Given the description of an element on the screen output the (x, y) to click on. 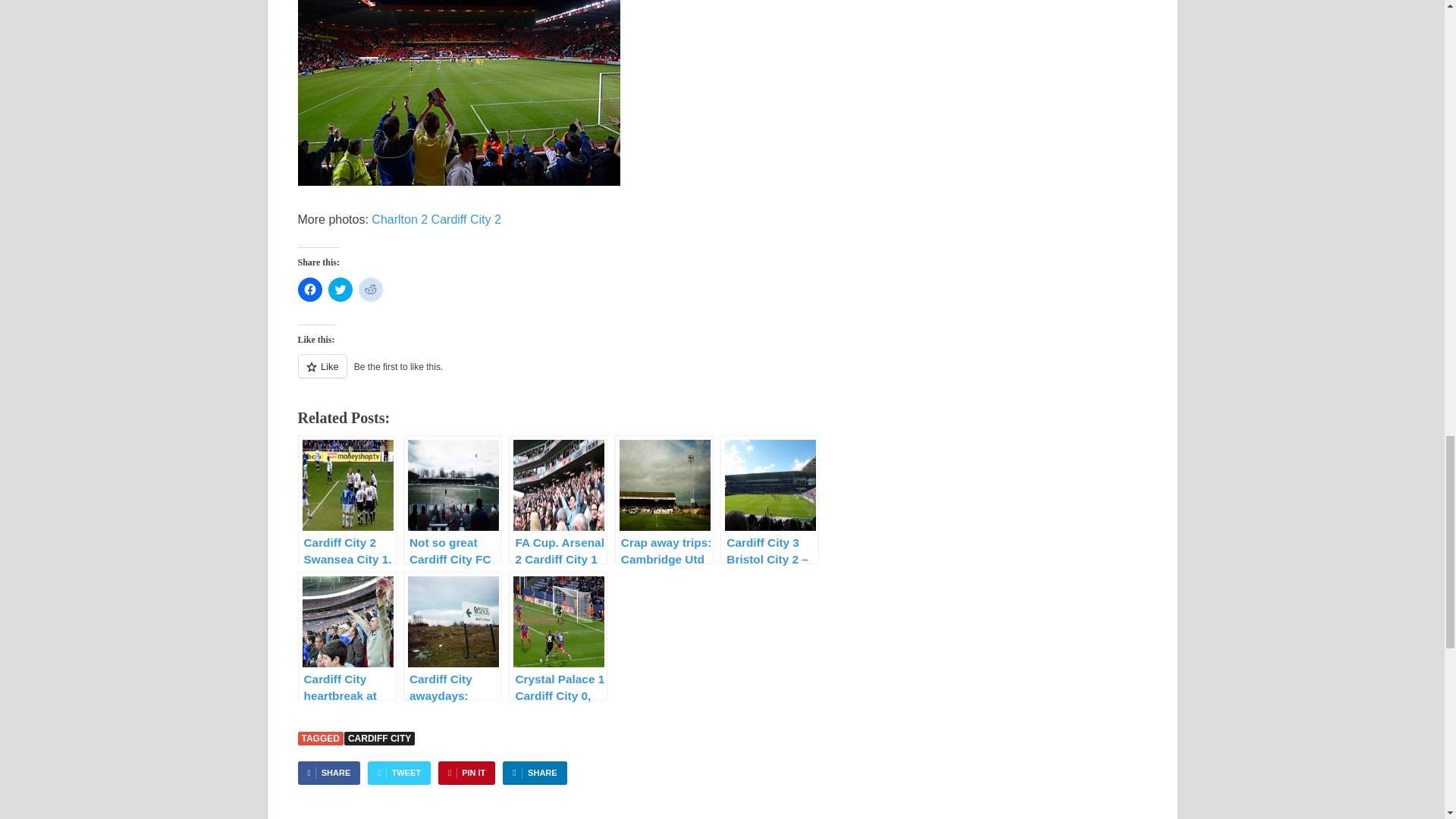
Click to share on Facebook (309, 289)
Charlton 2 Cardiff City 2 (435, 219)
Click to share on Reddit (369, 289)
Click to share on Twitter (339, 289)
Like or Reblog (575, 374)
